Given the description of an element on the screen output the (x, y) to click on. 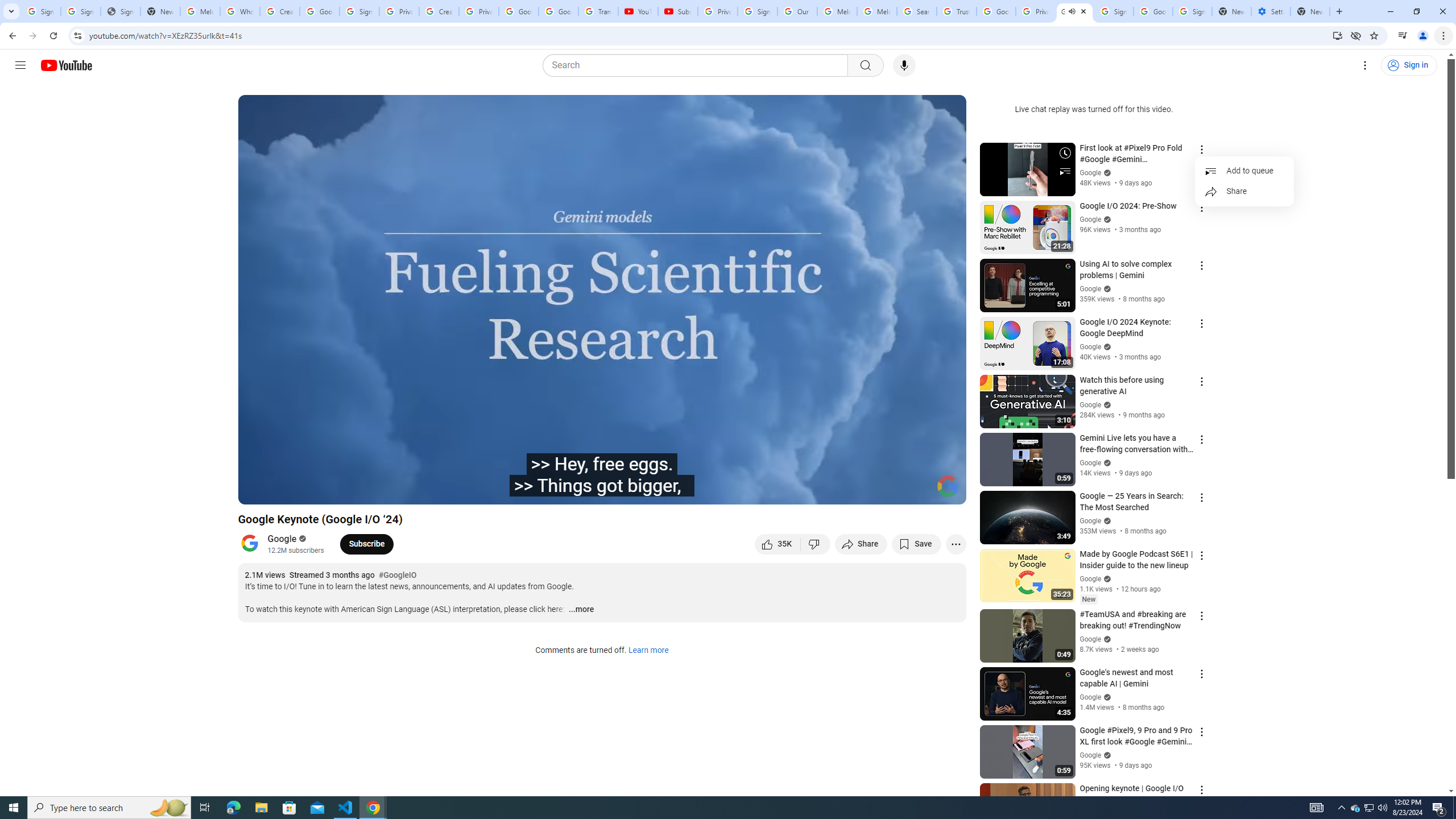
Channel watermark (947, 486)
Verified (1106, 755)
YouTube (637, 11)
Seek slider (601, 476)
Share (1243, 191)
Subscriptions - YouTube (677, 11)
Guide (20, 65)
